Given the description of an element on the screen output the (x, y) to click on. 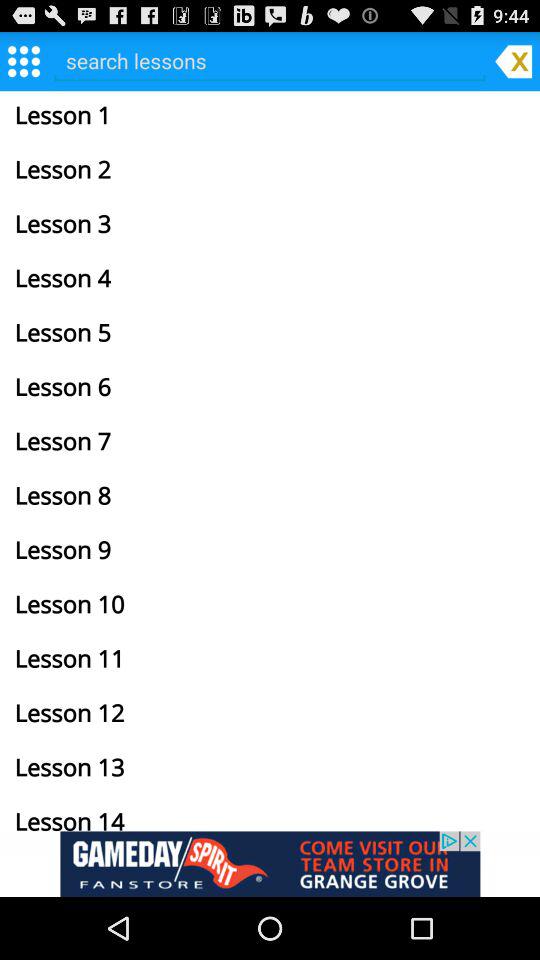
enter lesson (269, 60)
